Given the description of an element on the screen output the (x, y) to click on. 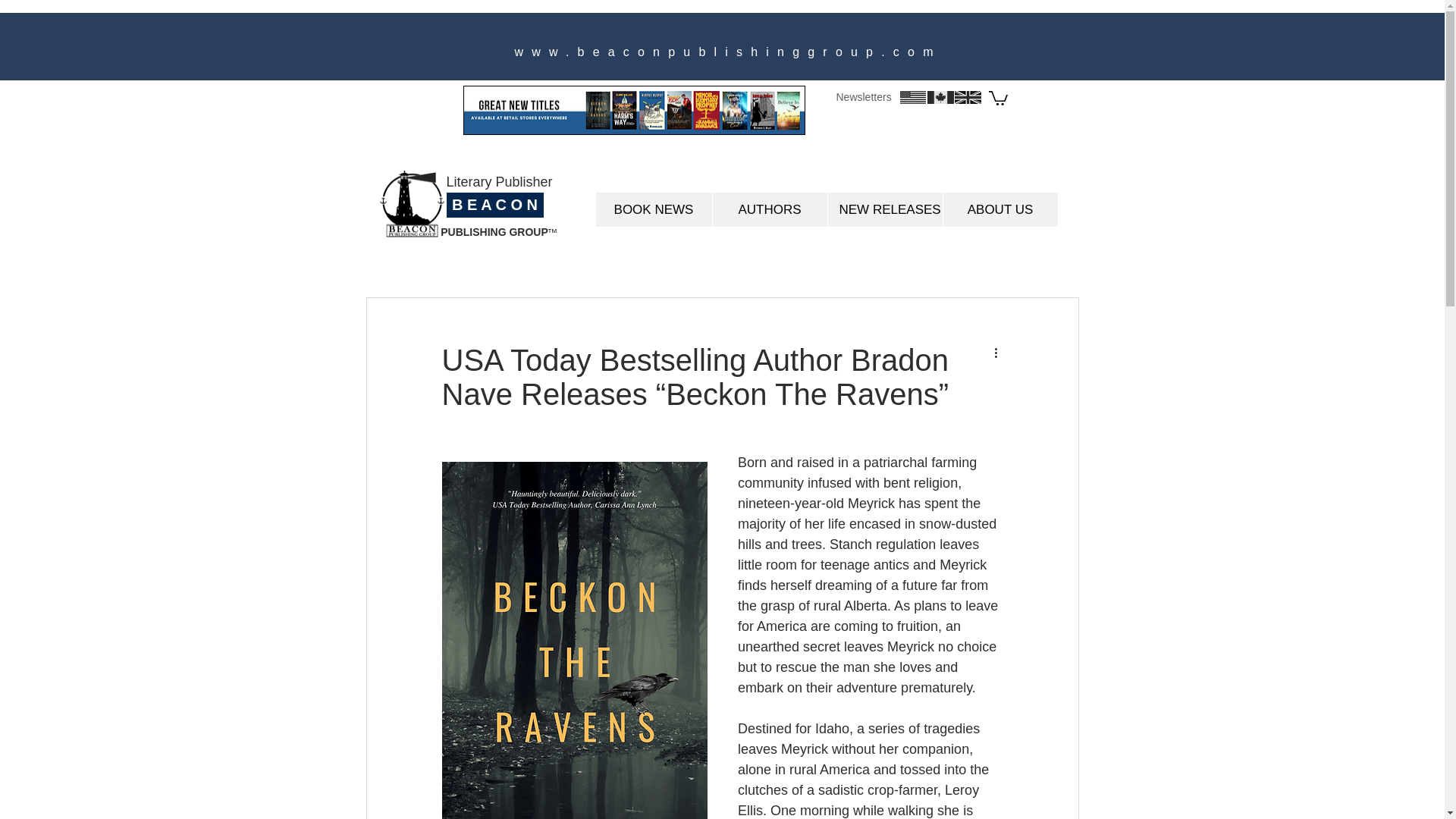
NEW RELEASES (884, 209)
BOOK NEWS (653, 209)
Newsletters (863, 96)
B E A C O N (494, 204)
ABOUT US (999, 209)
www.beaconpublishinggroup.com (726, 51)
AUTHORS (769, 209)
